Given the description of an element on the screen output the (x, y) to click on. 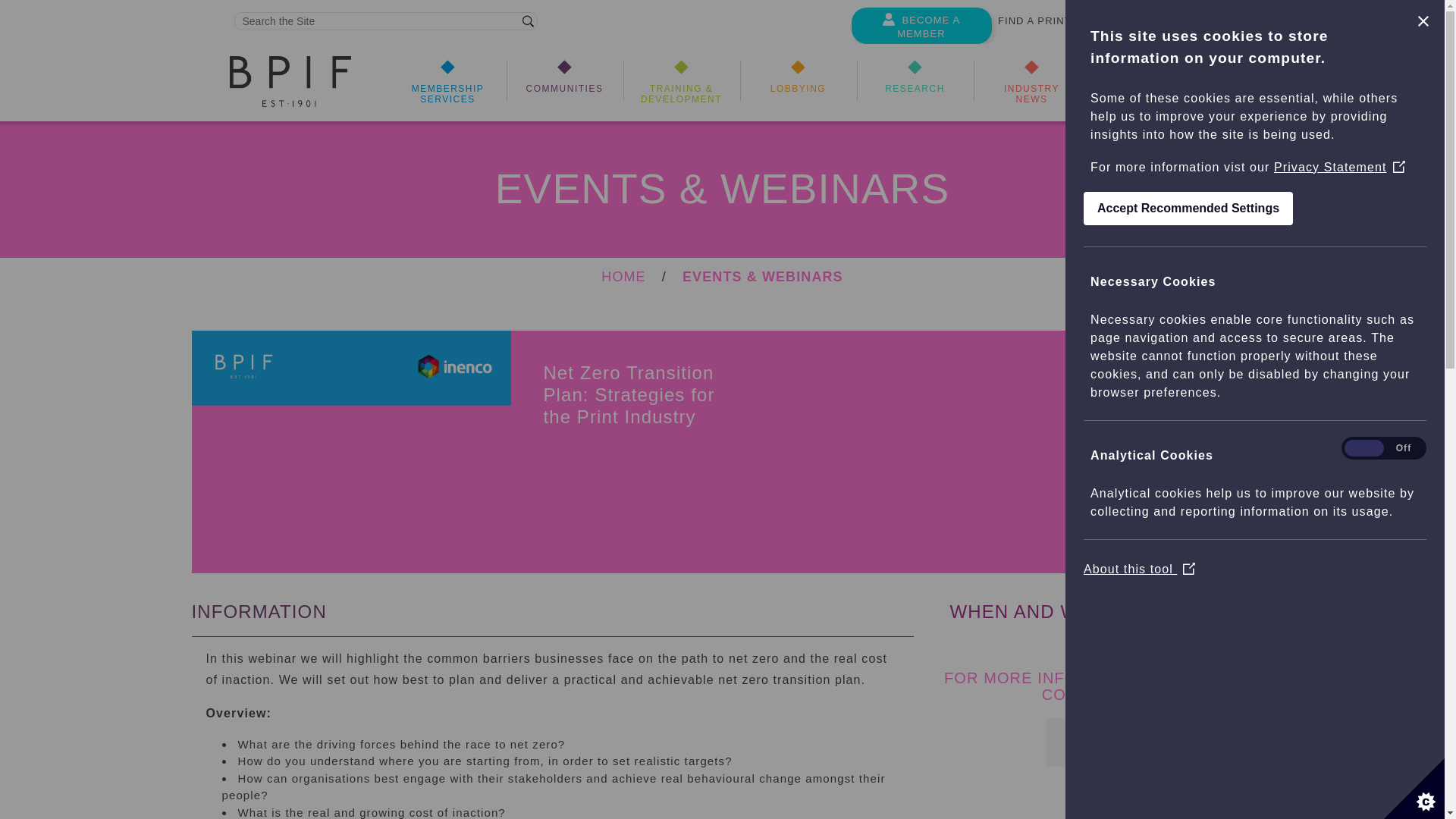
FIND A PRINTER (1042, 24)
BECOME A MEMBER (920, 26)
Net Zero Transition Plan: Strategies for the Print Industry (350, 451)
CONTACT (1224, 24)
MEMBER LOGIN (1142, 24)
Meeka Walwyn-Lewis (1093, 765)
MEMBERSHIP SERVICES (448, 87)
